Given the description of an element on the screen output the (x, y) to click on. 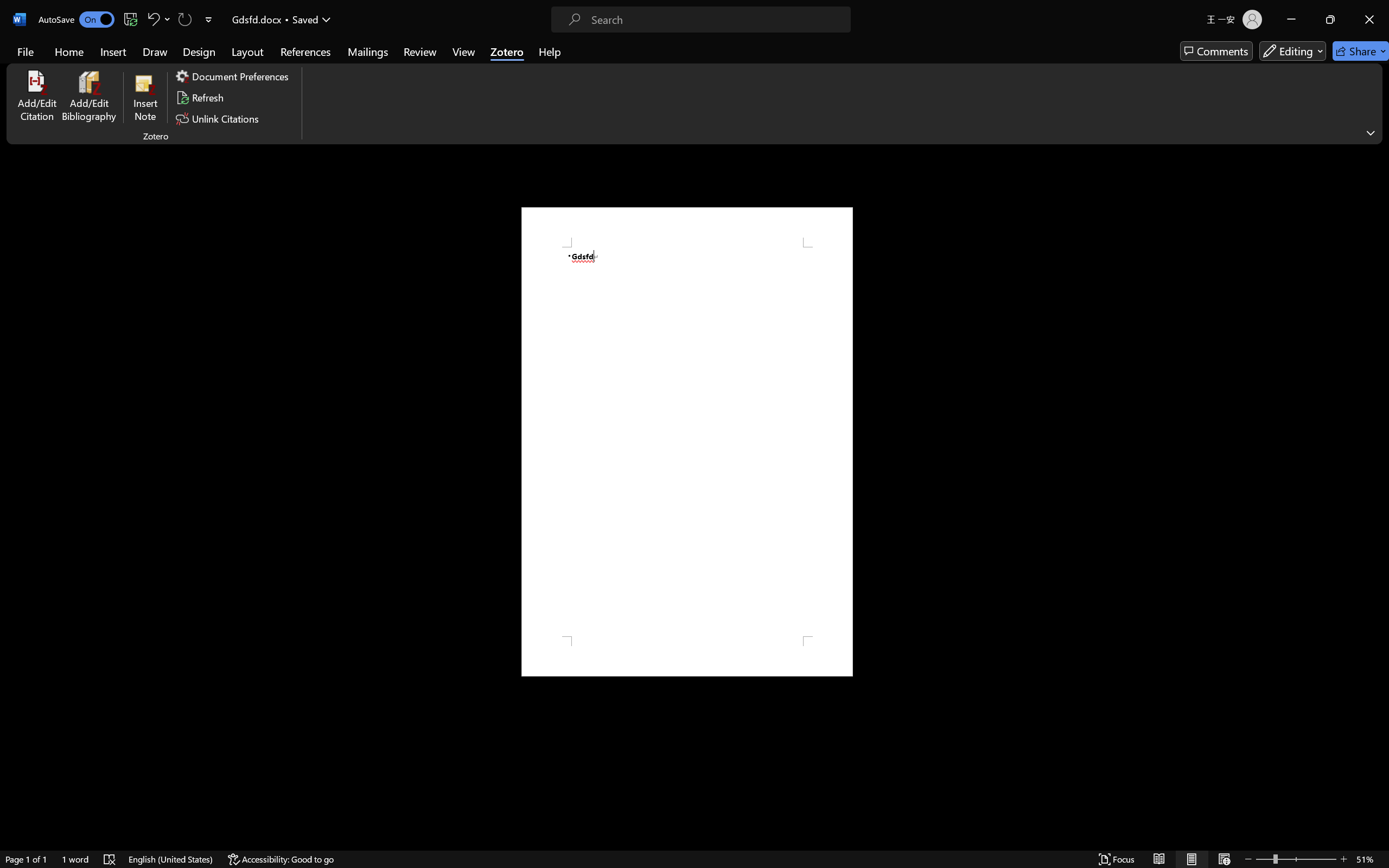
Page 1 content (686, 441)
